Given the description of an element on the screen output the (x, y) to click on. 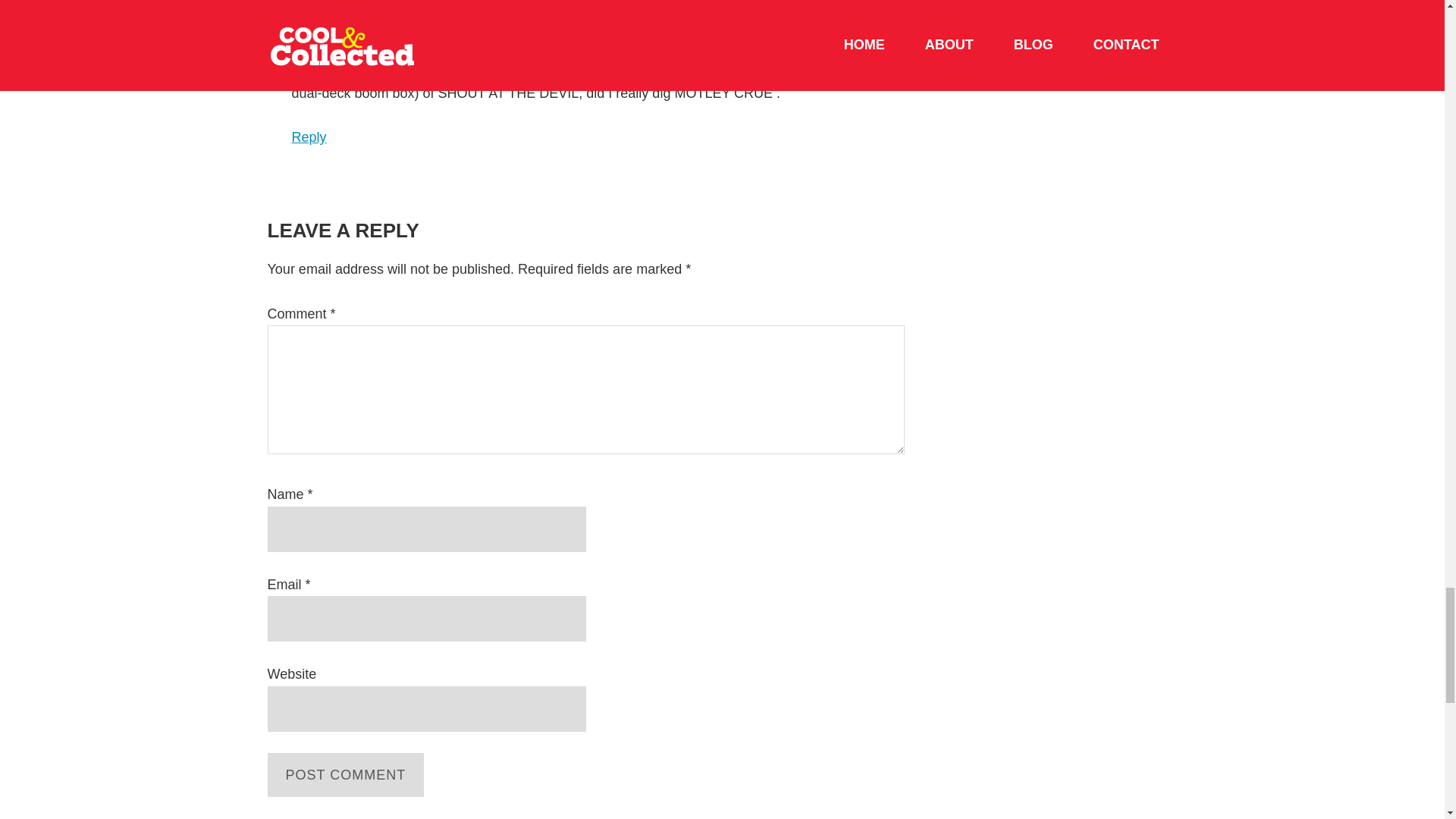
Post Comment (344, 774)
Post Comment (344, 774)
Reply (308, 136)
May 30, 2019 at 2:20 pm (414, 25)
